Given the description of an element on the screen output the (x, y) to click on. 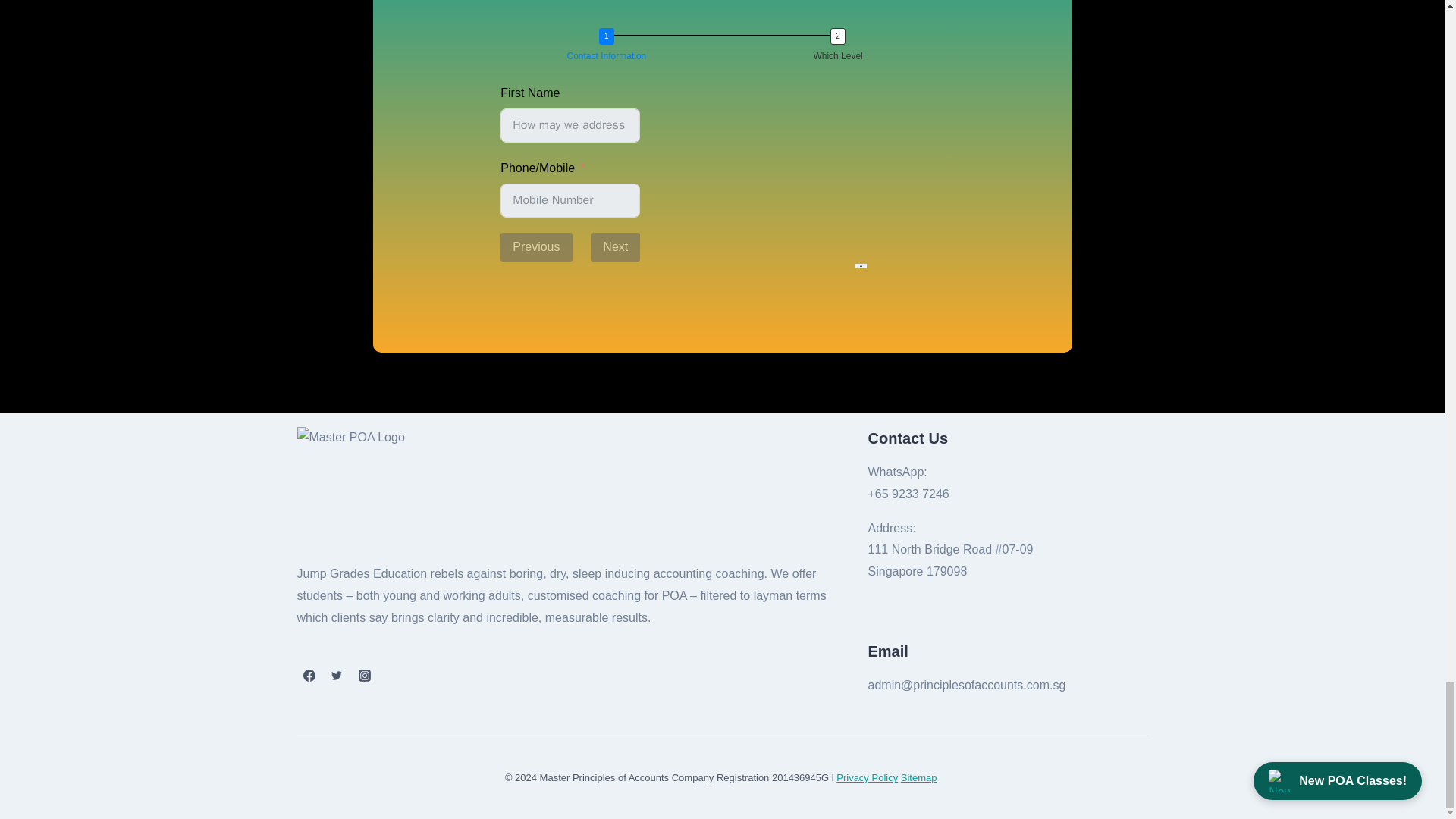
Unsure - please advise (505, 487)
Self-pace, Self-directed access to MPOA Portal (505, 370)
Blended Learning - combination of portal access and consult (505, 418)
1:1 Online Tuition with MPOA Instructor (505, 323)
